Given the description of an element on the screen output the (x, y) to click on. 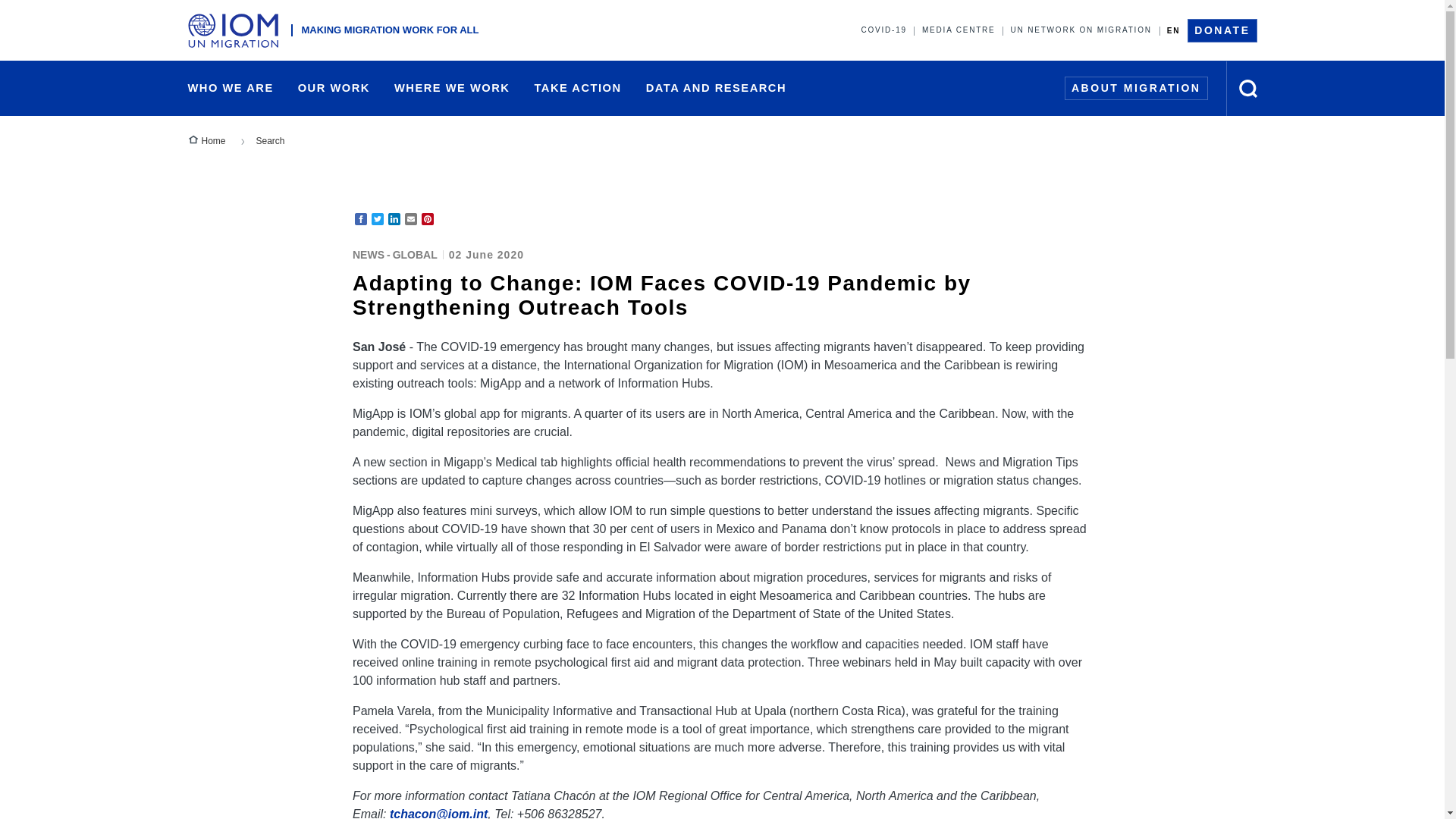
EN (1173, 30)
DONATE (1222, 29)
Skip to main content (721, 1)
Home (236, 30)
WHO WE ARE (230, 88)
OUR WORK (333, 88)
MEDIA CENTRE (958, 30)
COVID-19 (883, 30)
UN NETWORK ON MIGRATION (1080, 30)
